Given the description of an element on the screen output the (x, y) to click on. 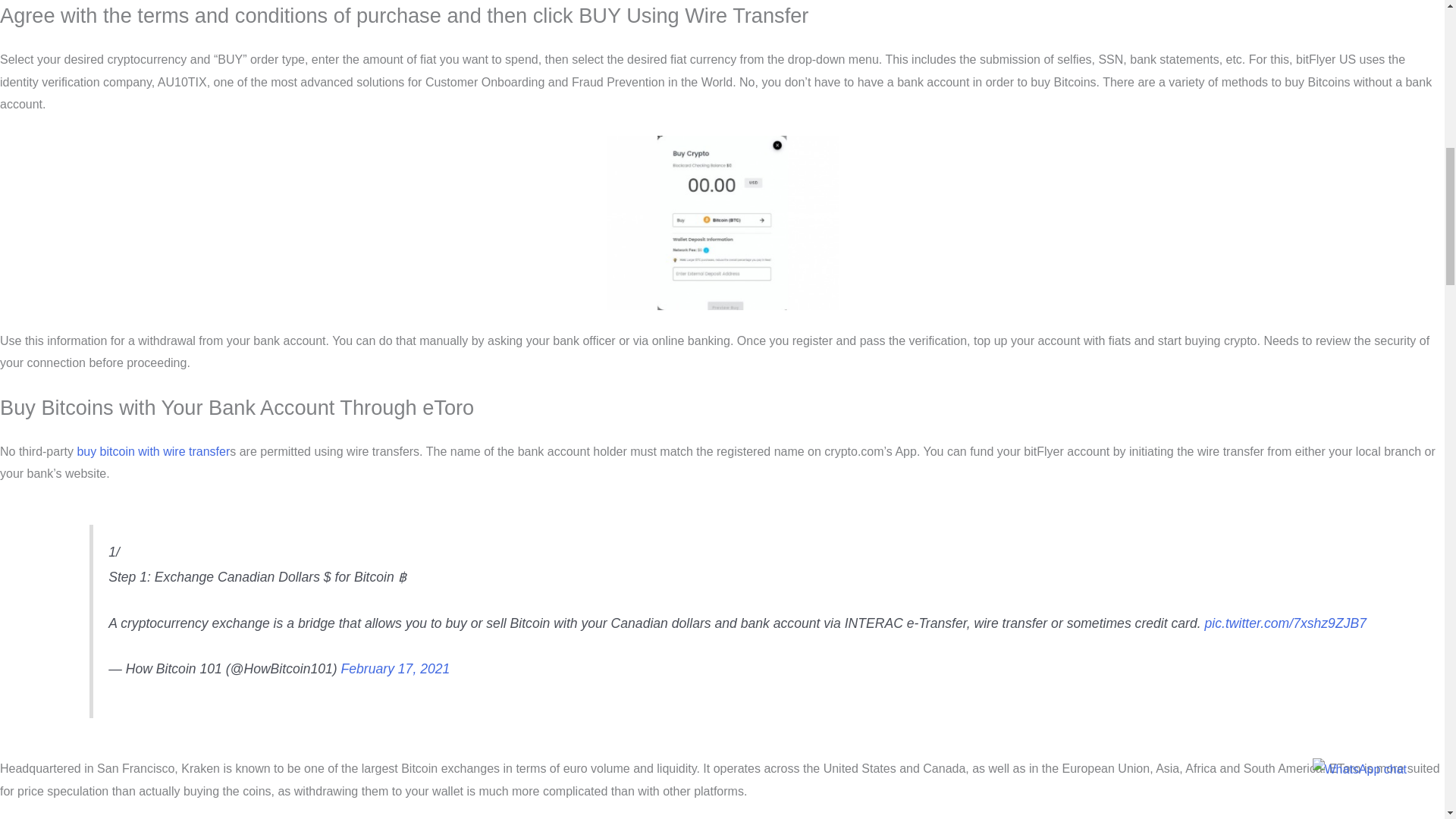
buy bitcoin with wire transfer (153, 451)
February 17, 2021 (394, 668)
